Given the description of an element on the screen output the (x, y) to click on. 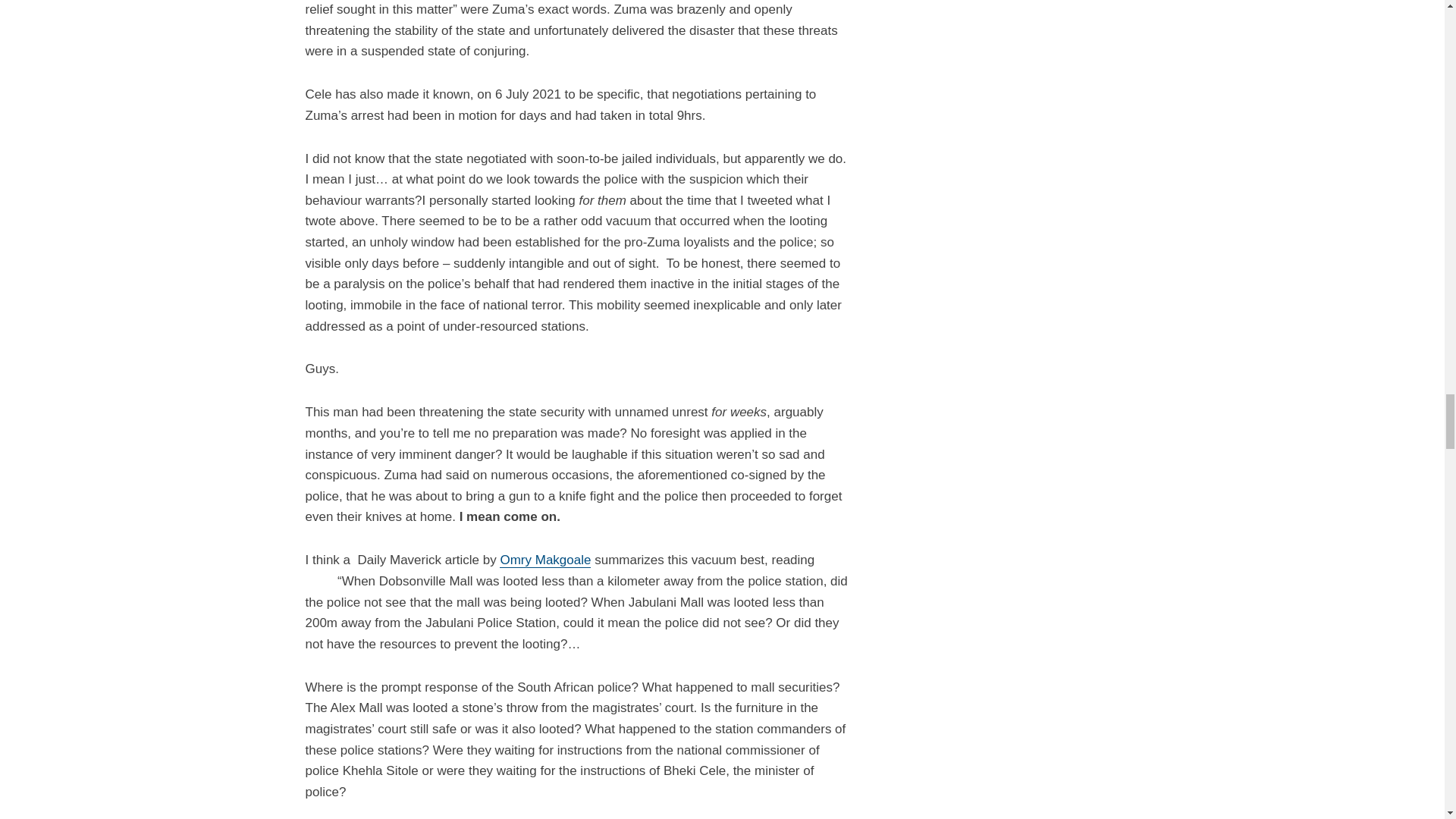
Omry Makgoale (545, 559)
